Given the description of an element on the screen output the (x, y) to click on. 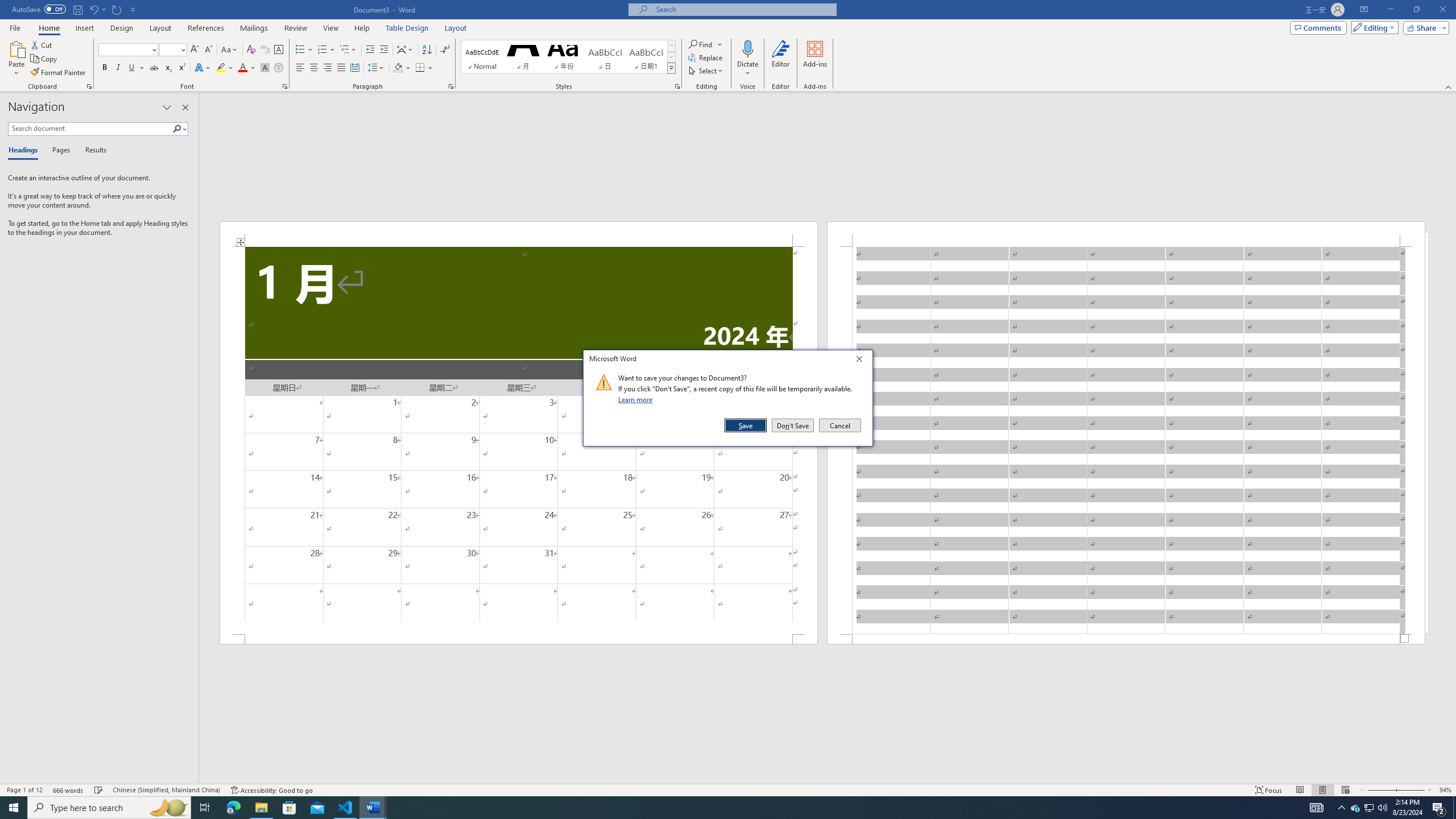
Notification Chevron (1341, 807)
Show desktop (1454, 807)
Language Chinese (Simplified, Mainland China) (165, 790)
Undo Text Fill Effect (92, 9)
